Given the description of an element on the screen output the (x, y) to click on. 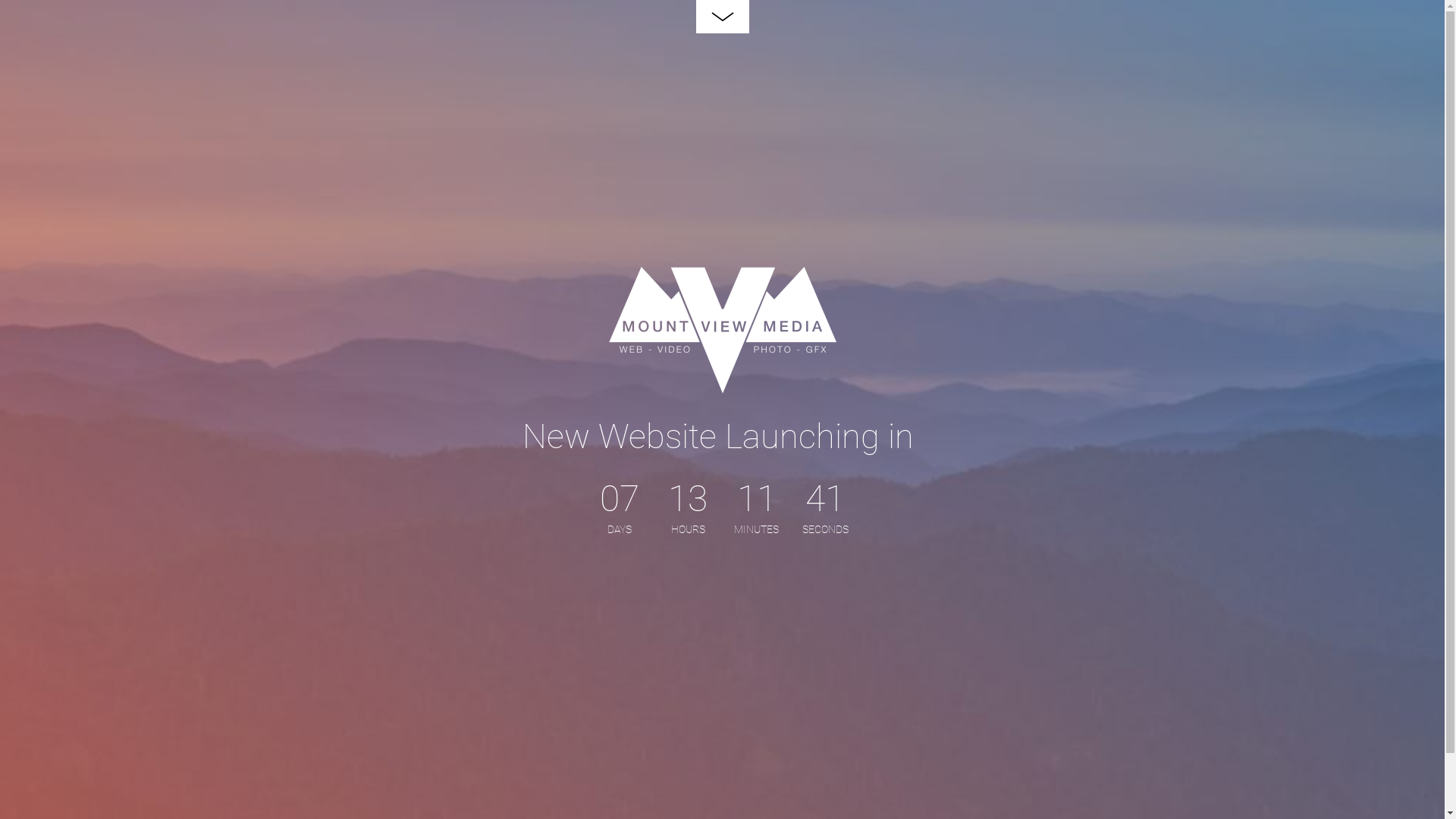
MVM_Logo WHITE NEW Element type: hover (721, 330)
Toggle Footer Element type: text (722, 16)
